Given the description of an element on the screen output the (x, y) to click on. 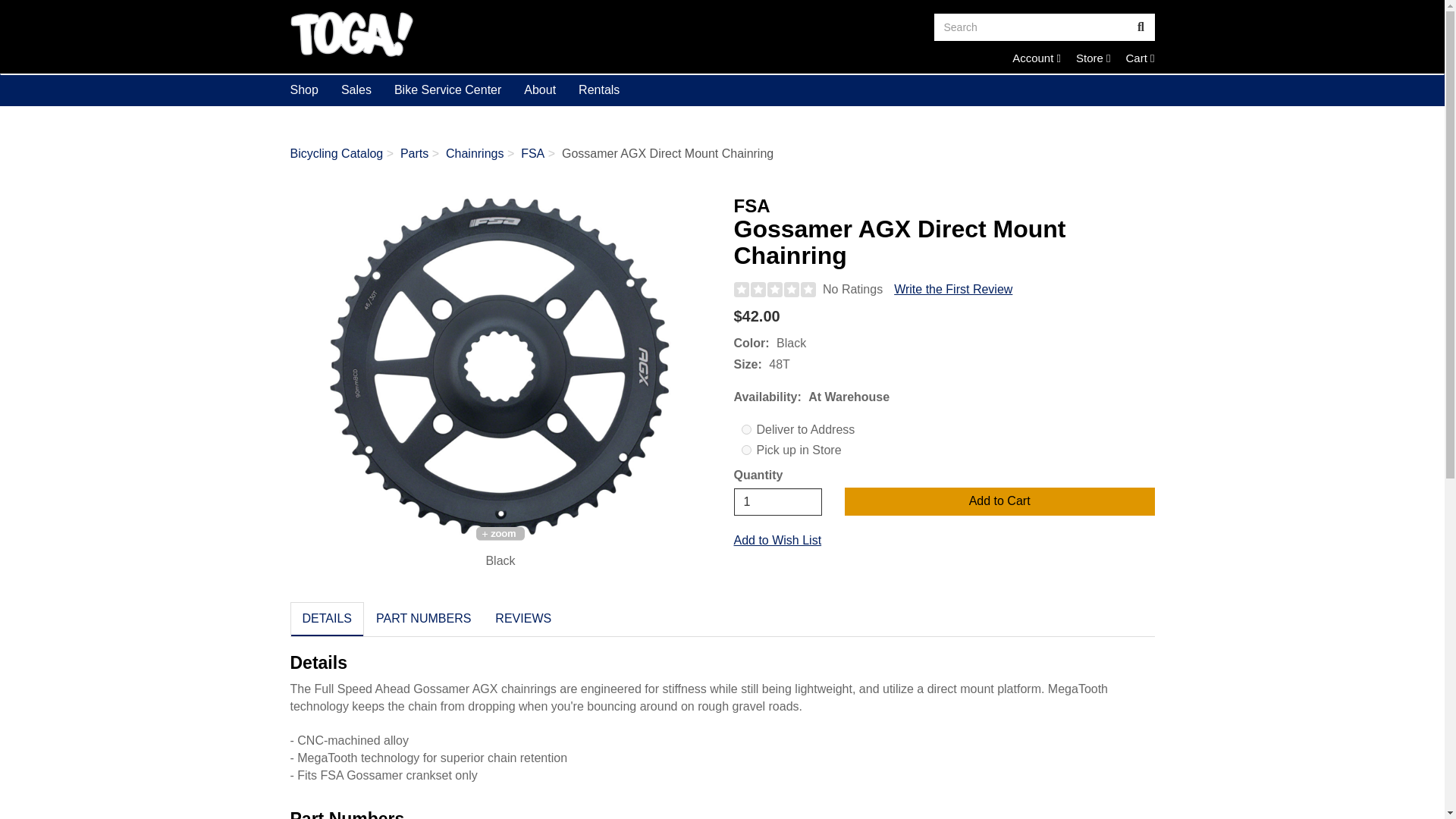
on (746, 429)
Account (1036, 57)
on (746, 450)
FSA Gossamer AGX Direct Mount Chainring Black (500, 366)
Cart (1139, 57)
Search (1036, 57)
Toga Bike Shop Home Page (1031, 26)
1 (1092, 57)
Shop (499, 33)
Store (1139, 57)
Search (777, 501)
